Given the description of an element on the screen output the (x, y) to click on. 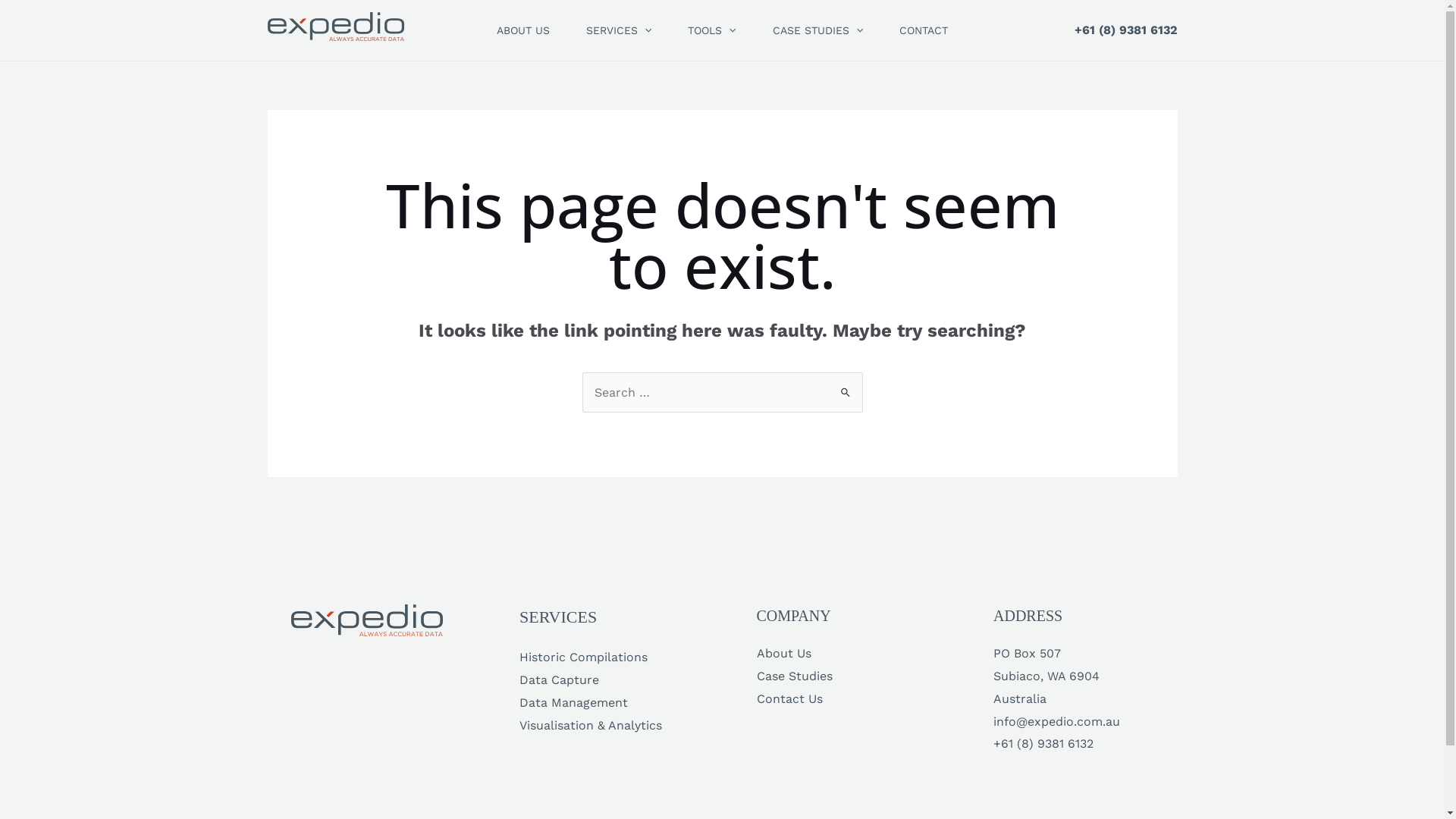
Data Capture Element type: text (559, 679)
About Us Element type: text (783, 653)
Visualisation & Analytics Element type: text (590, 725)
CASE STUDIES Element type: text (817, 29)
Historic Compilations Element type: text (583, 656)
+61 (8) 9381 6132 Element type: text (1043, 743)
Search Element type: text (845, 386)
SERVICES Element type: text (618, 29)
CONTACT Element type: text (923, 29)
+61 (8) 9381 6132 Element type: text (1124, 29)
Data Management Element type: text (573, 702)
info@expedio.com.au Element type: text (1056, 721)
ABOUT US Element type: text (522, 29)
TOOLS Element type: text (711, 29)
Contact Us Element type: text (789, 698)
Case Studies Element type: text (794, 675)
